Given the description of an element on the screen output the (x, y) to click on. 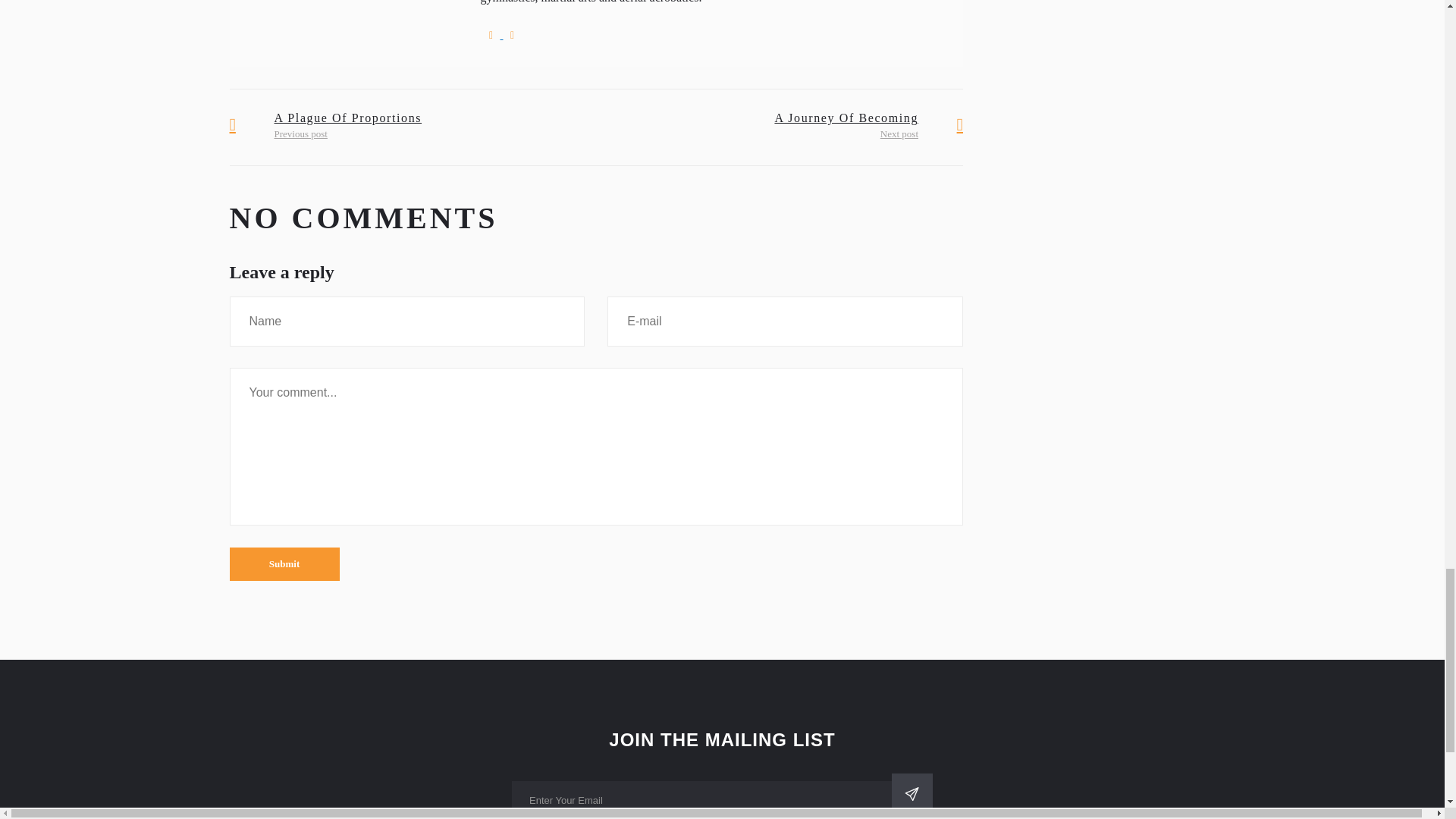
Subscribe (912, 793)
Submit (283, 563)
